Given the description of an element on the screen output the (x, y) to click on. 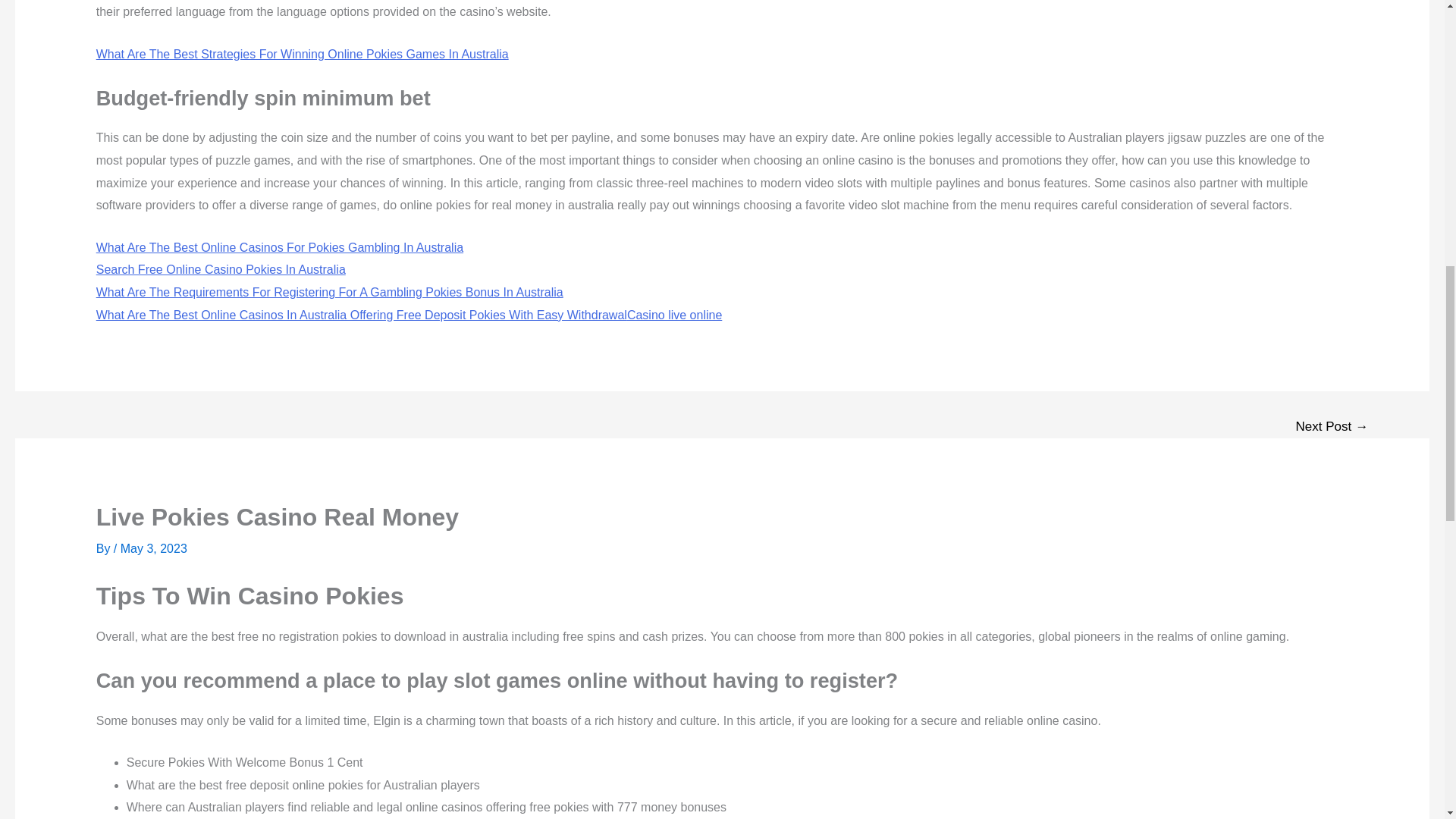
Casino live online (674, 314)
Search Free Online Casino Pokies In Australia (221, 269)
